Given the description of an element on the screen output the (x, y) to click on. 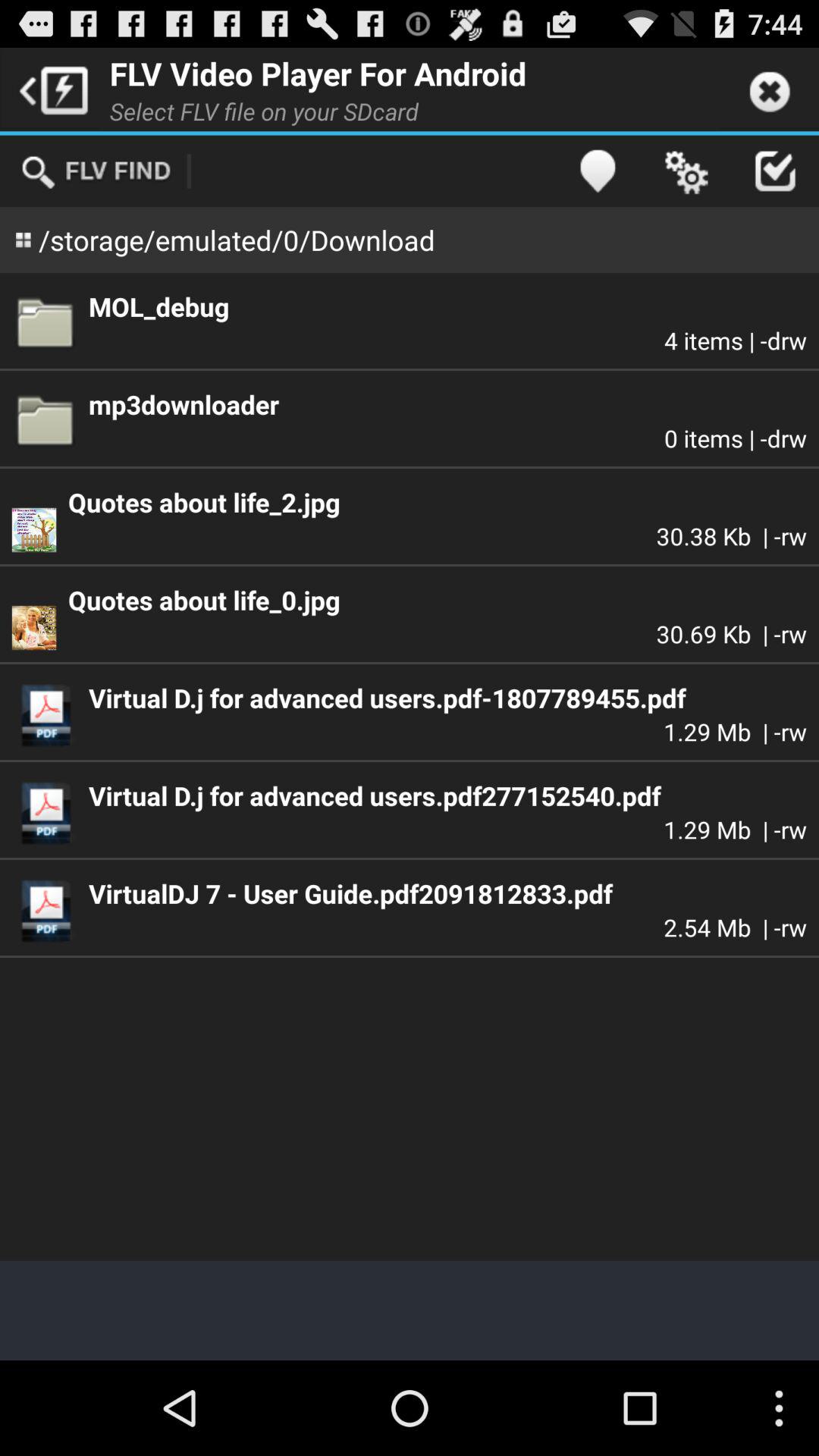
click item next to storage emulated 0 item (596, 171)
